Given the description of an element on the screen output the (x, y) to click on. 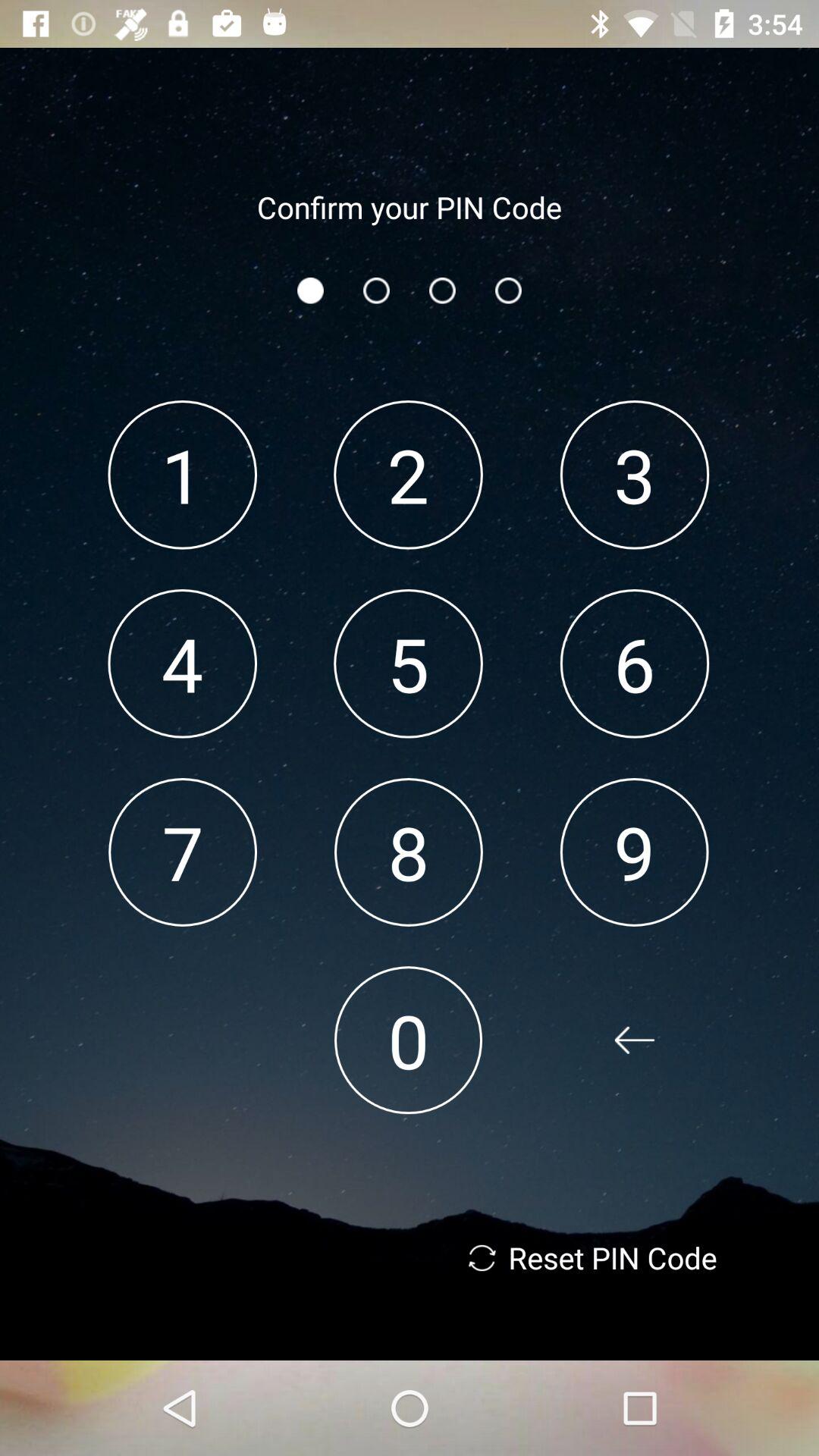
scroll to 8 icon (408, 852)
